Given the description of an element on the screen output the (x, y) to click on. 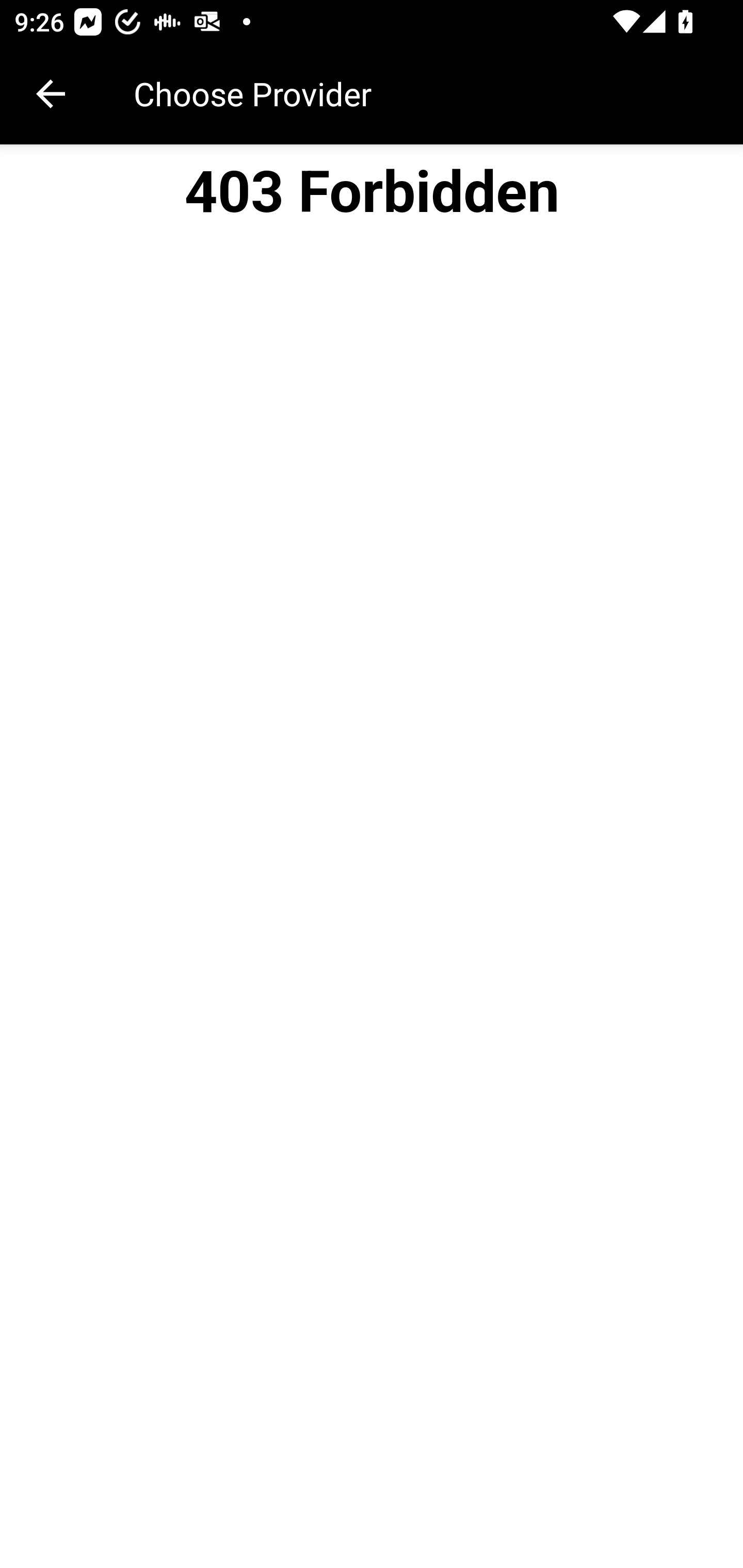
Navigate up (50, 93)
